Given the description of an element on the screen output the (x, y) to click on. 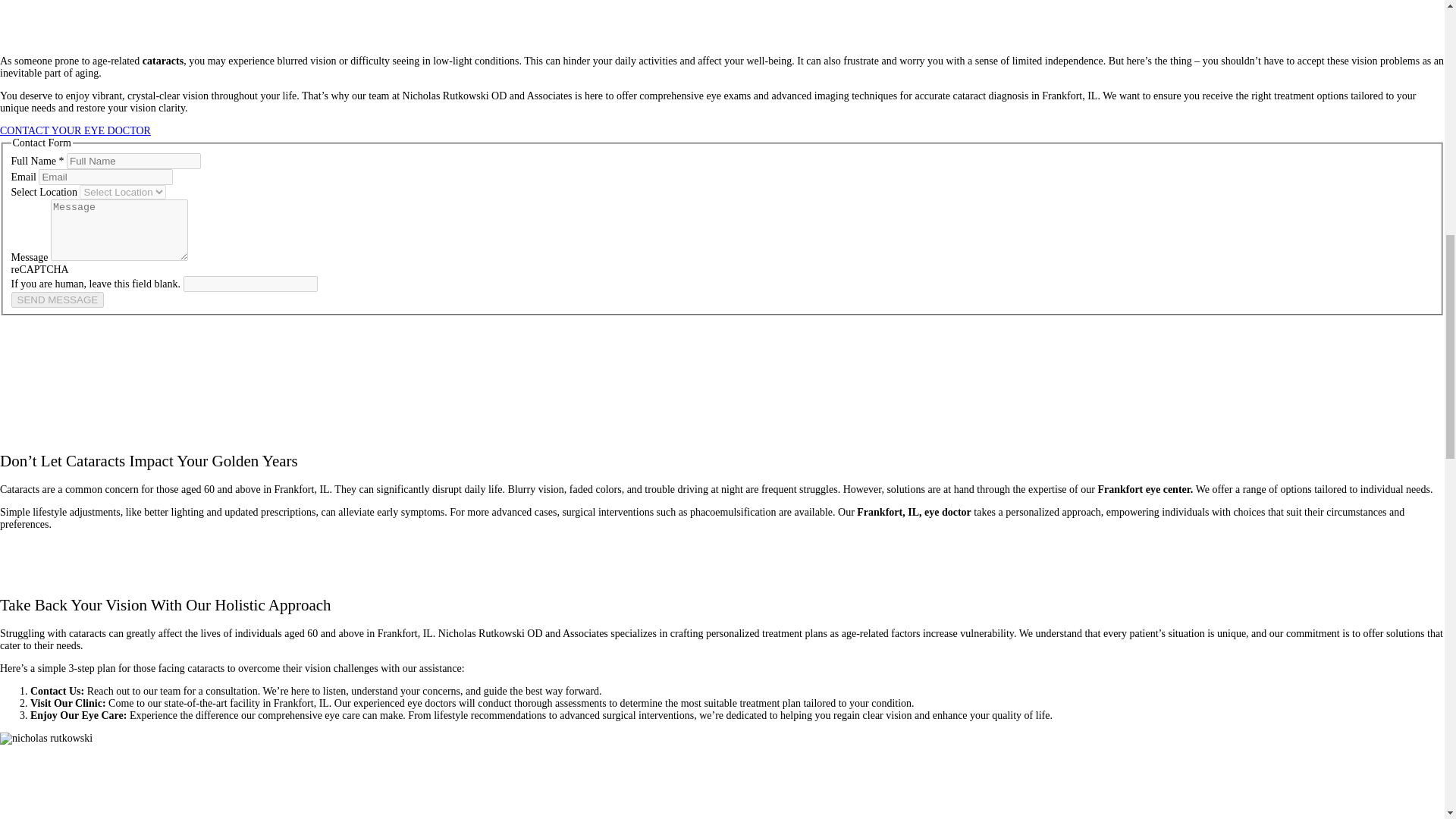
SEND MESSAGE (56, 299)
CONTACT YOUR EYE DOCTOR (75, 130)
Laser,Vision,Correction.,A,Patient,And,Team,Of,Surgeons,In (46, 738)
